Given the description of an element on the screen output the (x, y) to click on. 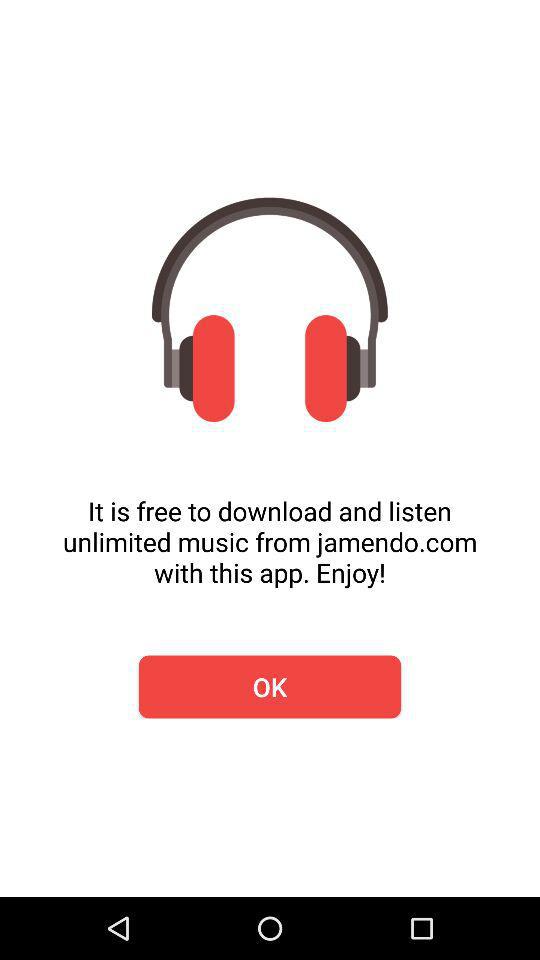
scroll until the ok (269, 686)
